Given the description of an element on the screen output the (x, y) to click on. 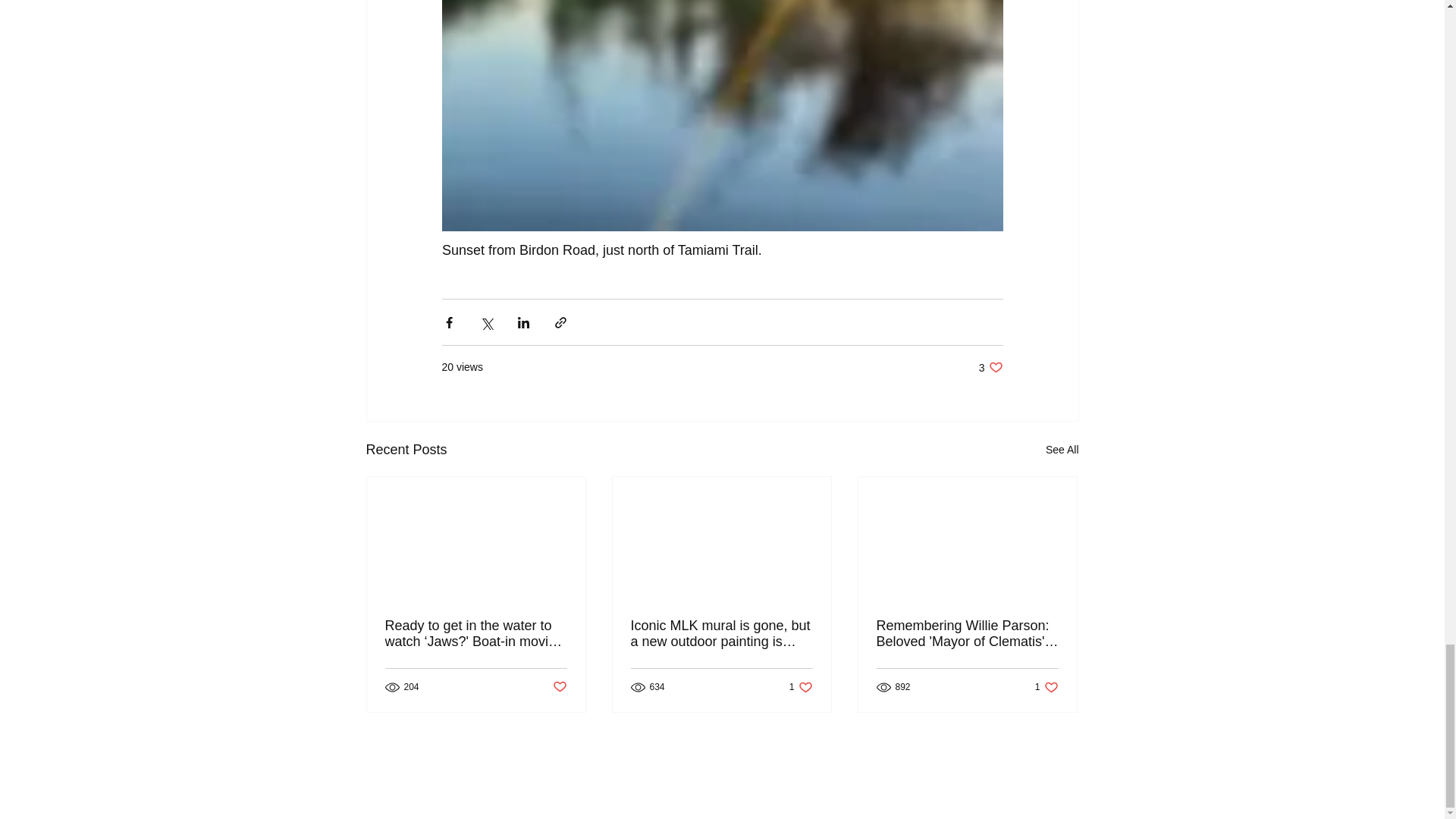
See All (1061, 449)
Post not marked as liked (558, 687)
